Given the description of an element on the screen output the (x, y) to click on. 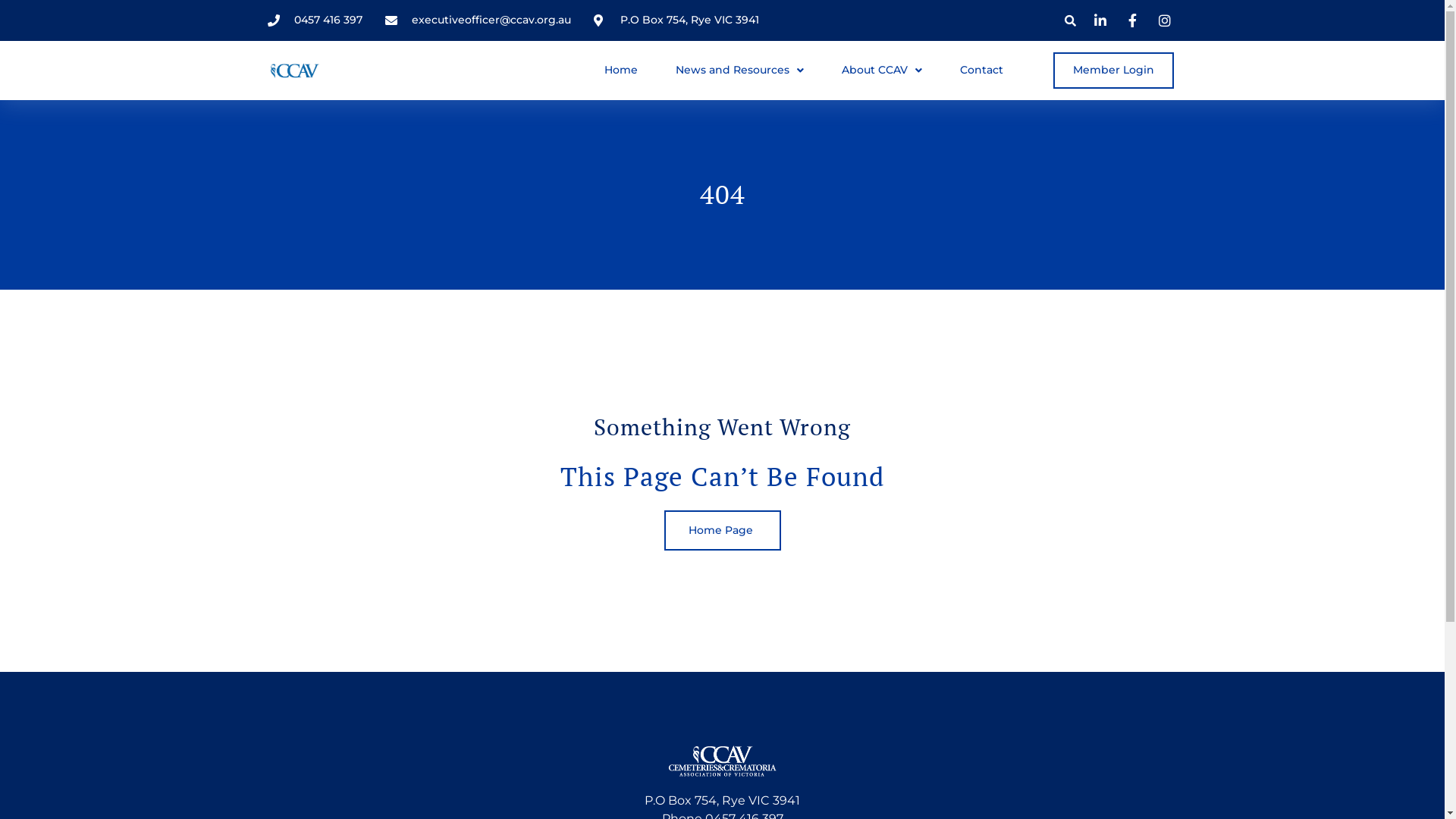
Member Login Element type: text (1113, 70)
News and Resources Element type: text (739, 70)
Contact Element type: text (981, 70)
Home Element type: text (620, 70)
Home Page Element type: text (722, 530)
About CCAV Element type: text (881, 70)
